Given the description of an element on the screen output the (x, y) to click on. 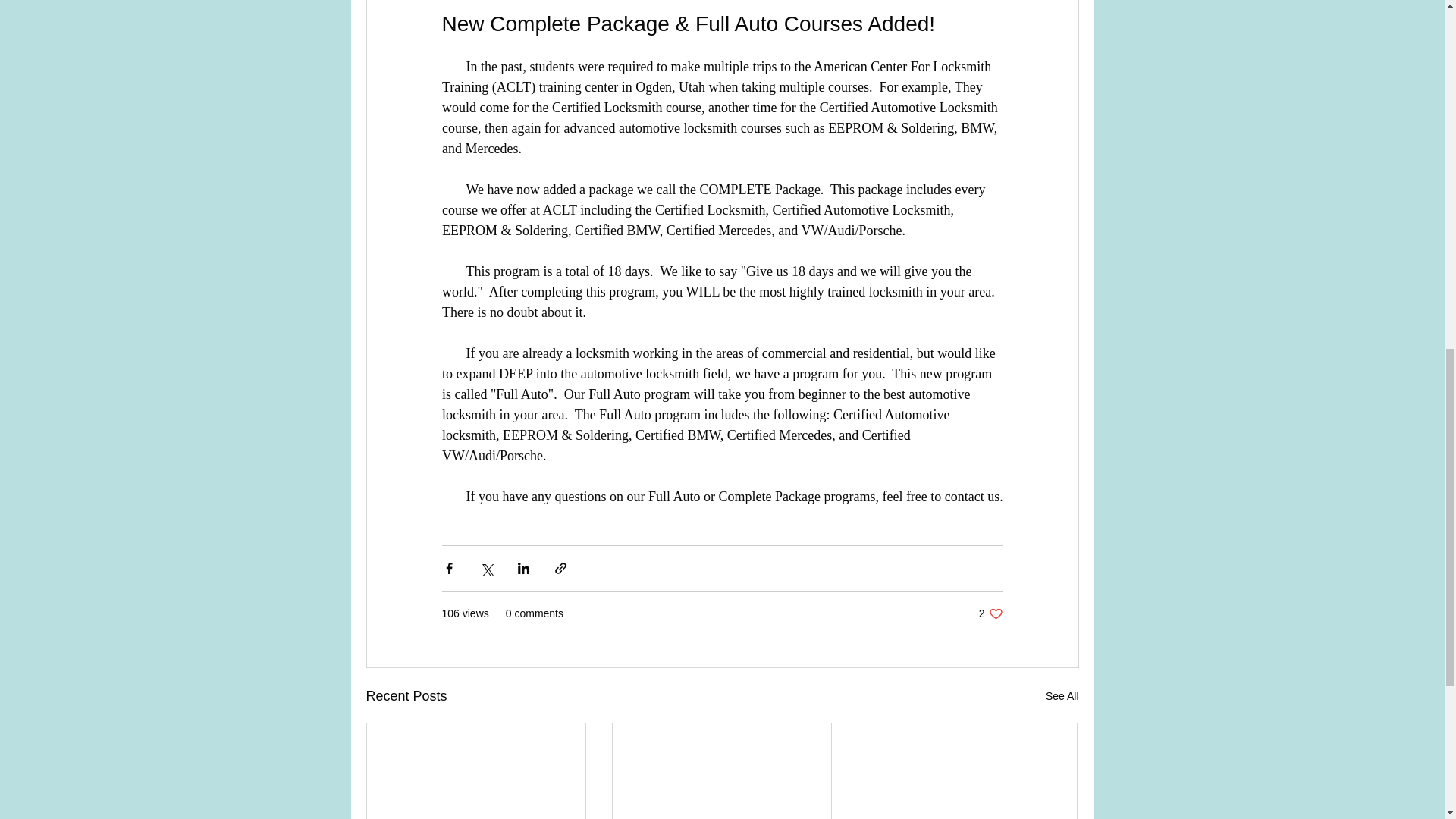
See All (990, 613)
